Given the description of an element on the screen output the (x, y) to click on. 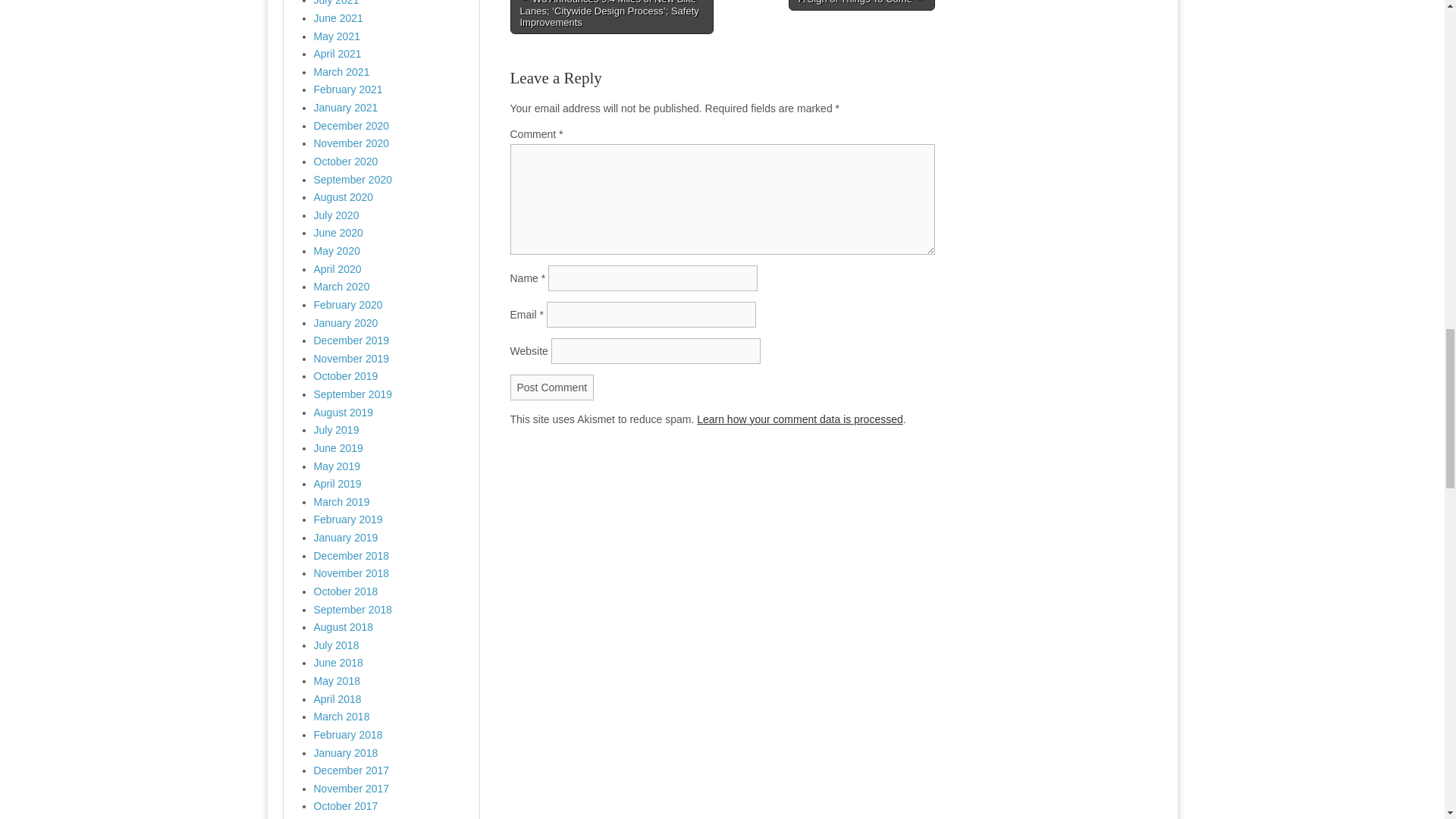
Post Comment (551, 387)
Post Comment (551, 387)
Learn how your comment data is processed (799, 419)
